Given the description of an element on the screen output the (x, y) to click on. 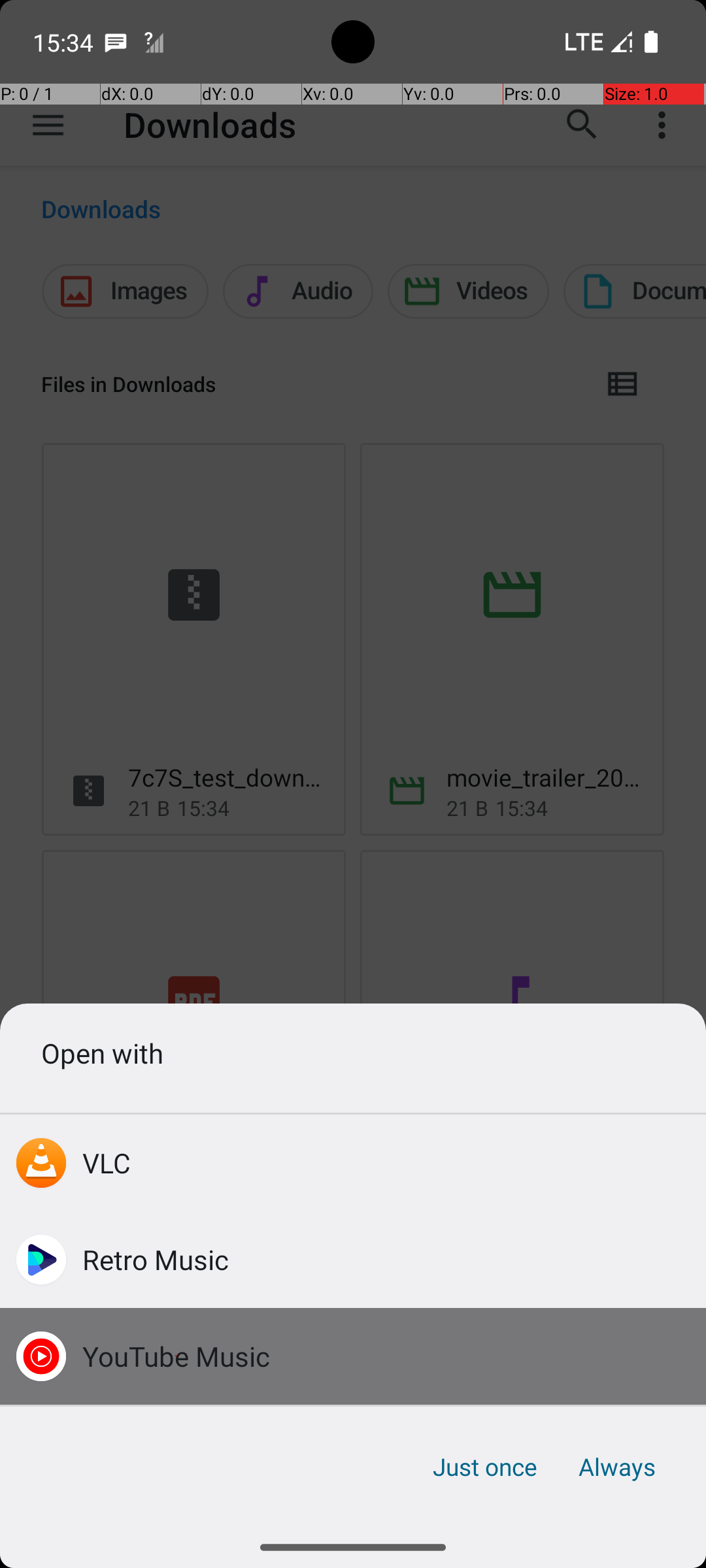
Open with Element type: android.widget.TextView (352, 1052)
YouTube Music Element type: android.widget.TextView (175, 1355)
